Given the description of an element on the screen output the (x, y) to click on. 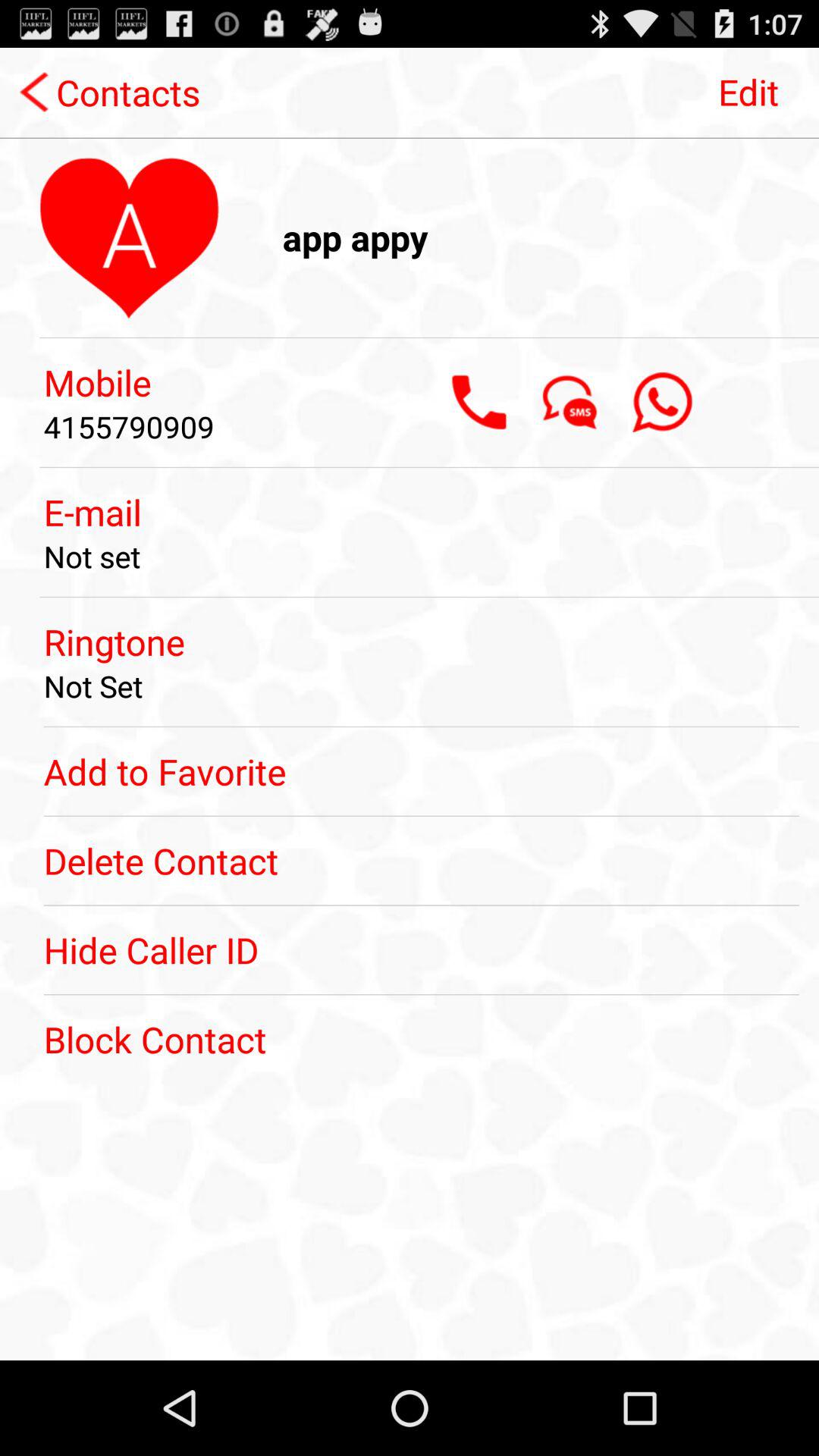
send a message (570, 402)
